Given the description of an element on the screen output the (x, y) to click on. 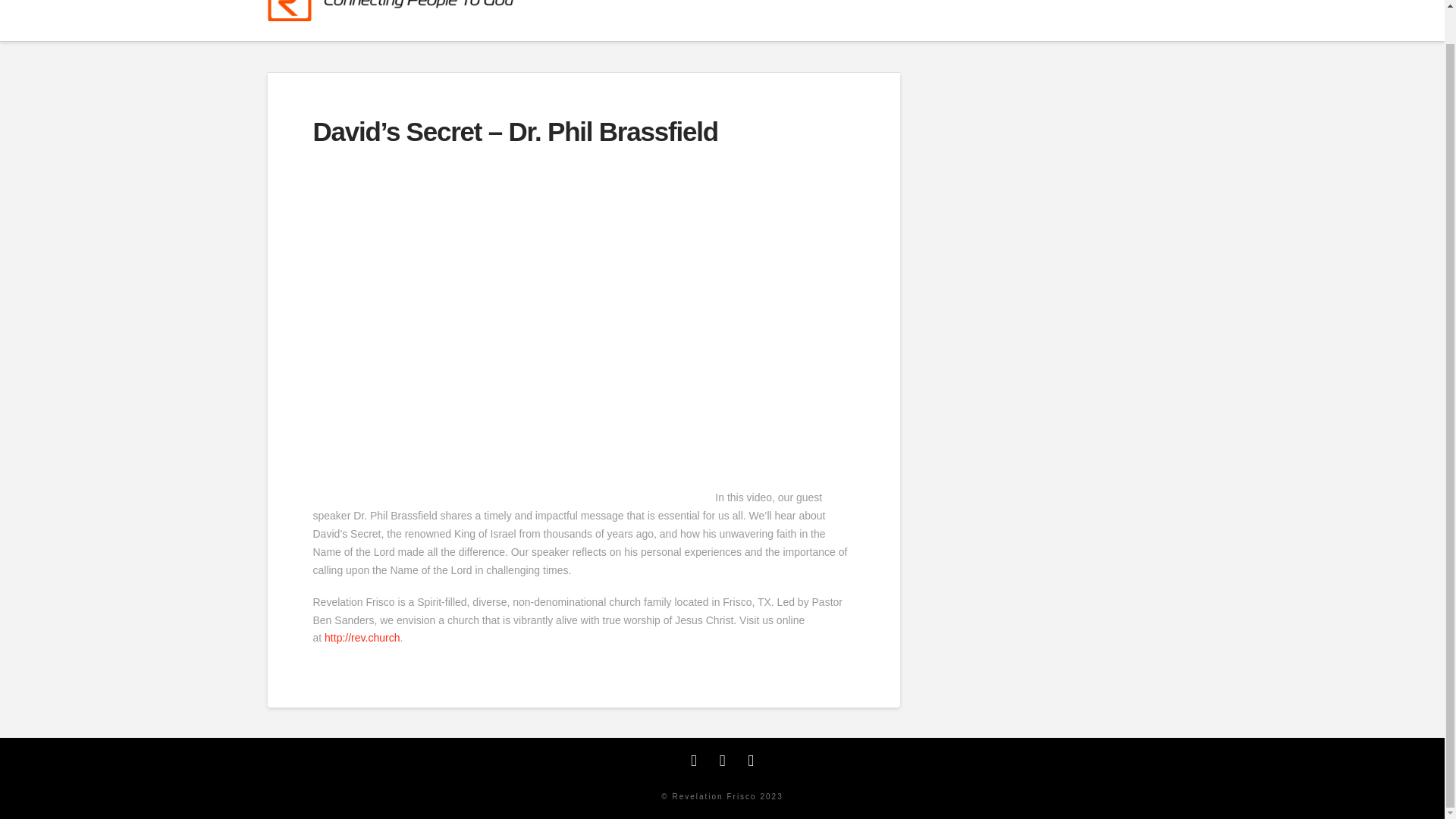
MESSAGES (1025, 20)
CONTACT US (1125, 20)
HOME (699, 20)
GIVING (940, 20)
NEXT STEPS (857, 20)
ABOUT (768, 20)
